Given the description of an element on the screen output the (x, y) to click on. 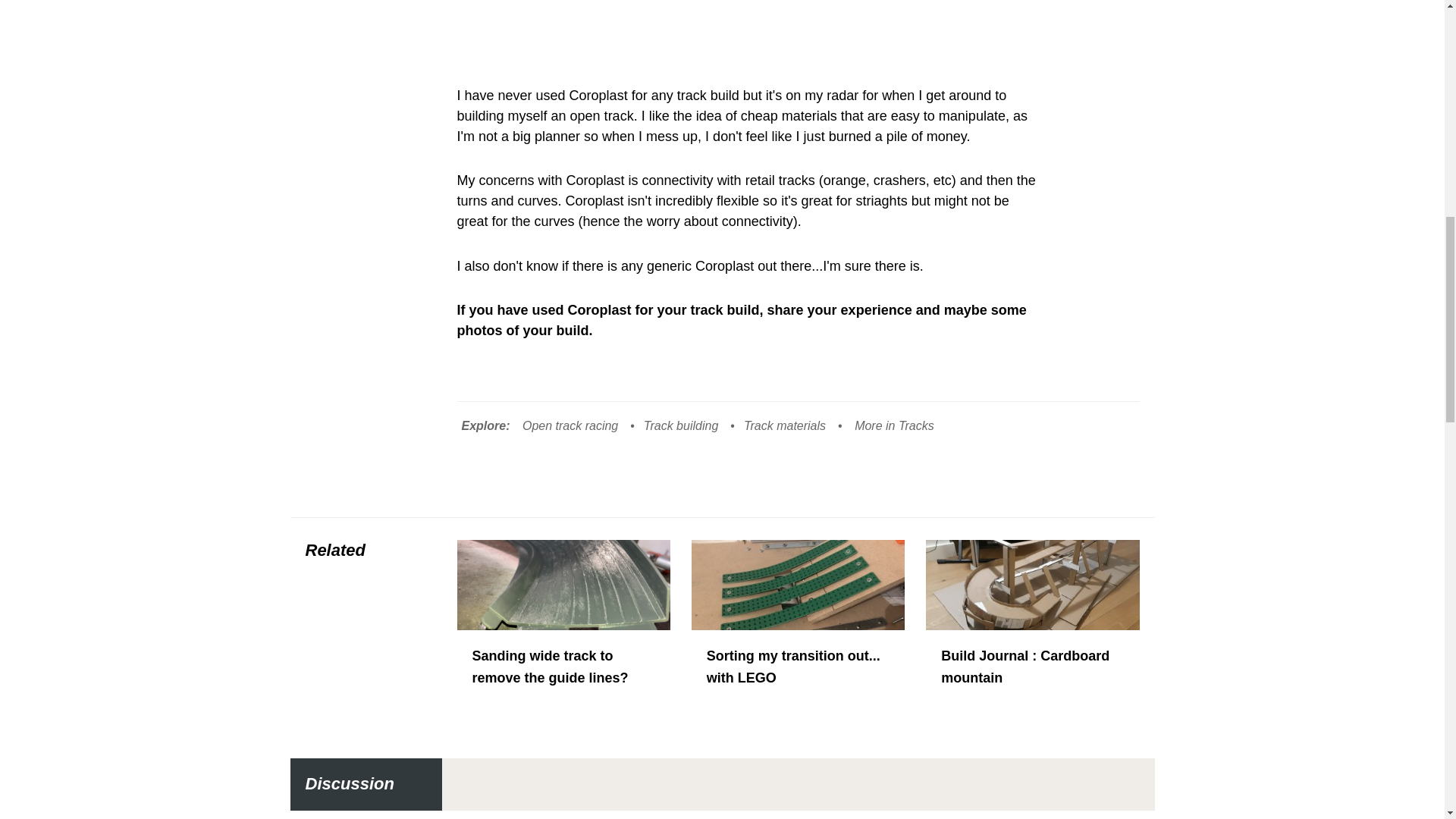
Sanding wide track to remove the guide lines? (563, 639)
Build Journal : Cardboard mountain (1032, 639)
Track building (680, 425)
Track materials (784, 425)
Open track racing (569, 425)
Sorting my transition out... with LEGO (797, 639)
More in Tracks (894, 425)
